Given the description of an element on the screen output the (x, y) to click on. 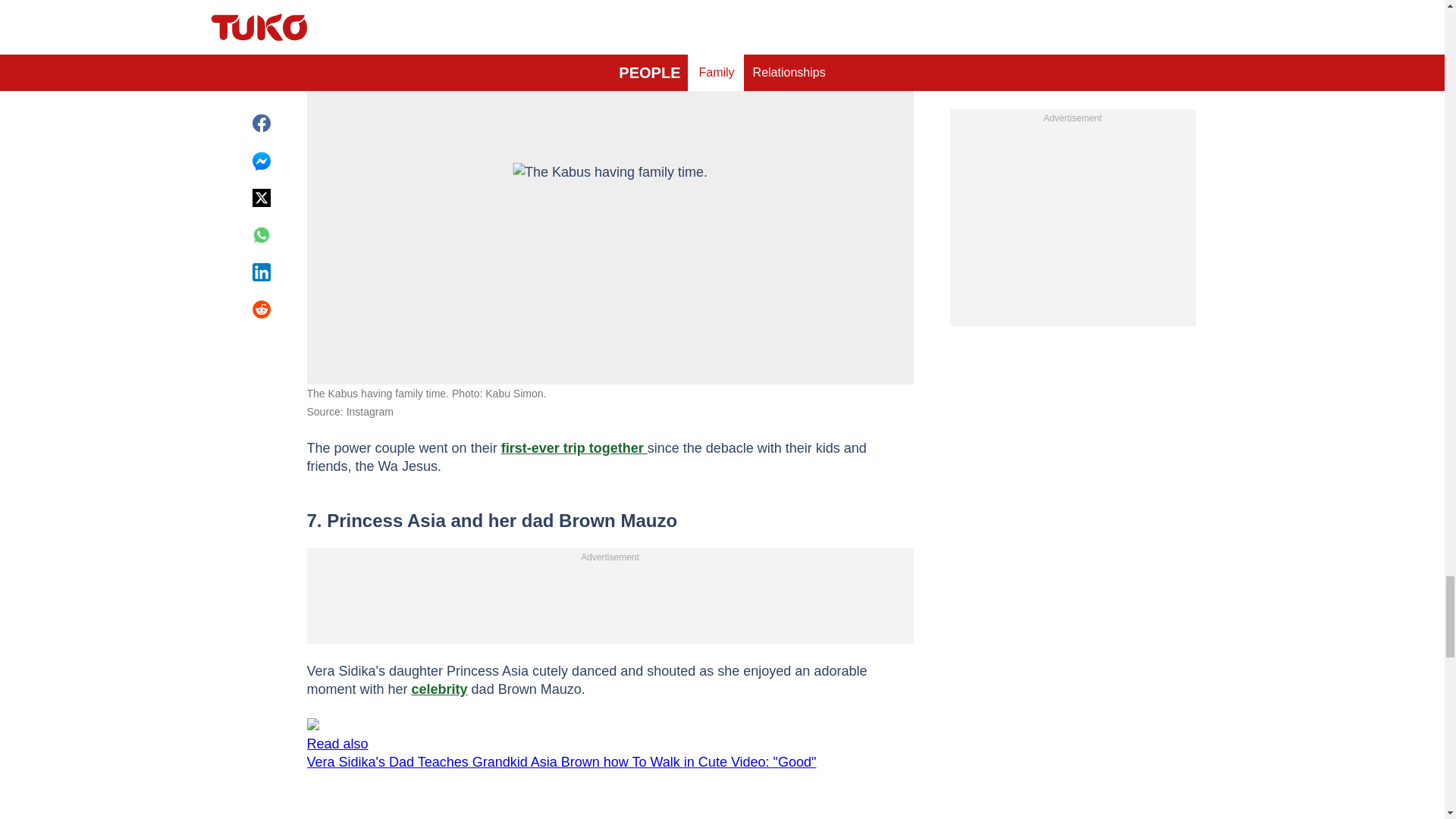
Expand image (895, 61)
The Kabus having family time. (609, 213)
